Given the description of an element on the screen output the (x, y) to click on. 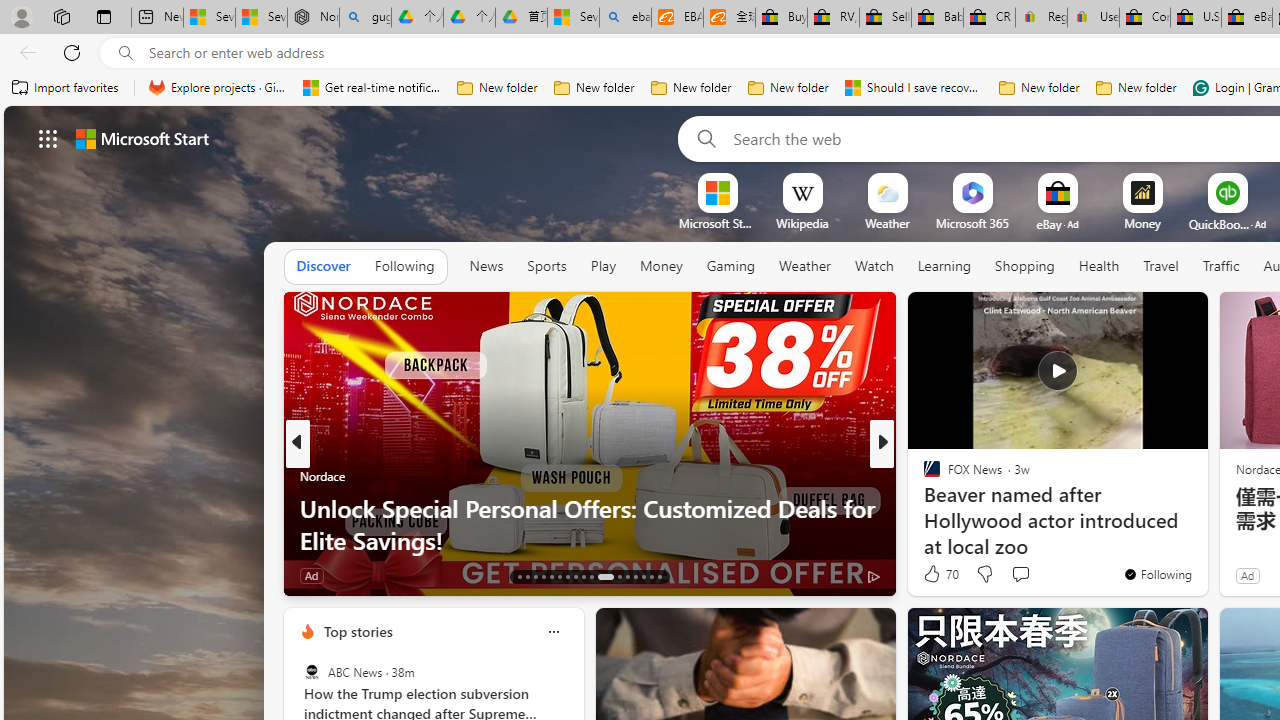
Should I save recovered Word documents? - Microsoft Support (913, 88)
View comments 6 Comment (1014, 575)
New folder (1136, 88)
Baby Keepsakes & Announcements for sale | eBay (936, 17)
Personal Profile (21, 16)
Health (1099, 265)
Dislike (984, 574)
Watch (874, 267)
AutomationID: tab-25 (627, 576)
BRAINY DOSE (923, 475)
See more (1183, 315)
Traffic (1220, 265)
Money (660, 265)
